Given the description of an element on the screen output the (x, y) to click on. 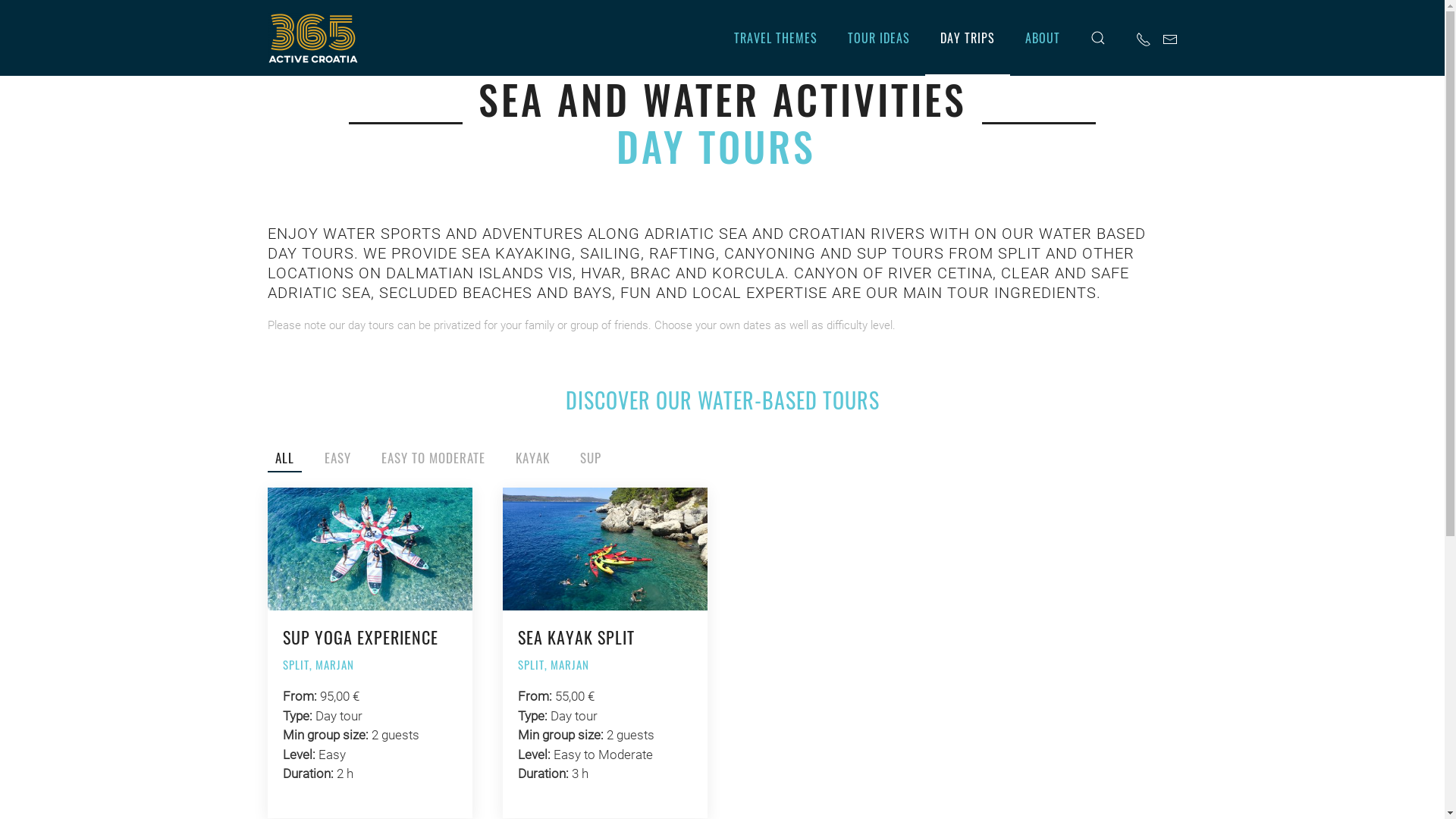
ABOUT Element type: text (1042, 37)
KAYAK Element type: text (532, 458)
SUP Element type: text (589, 458)
TRAVEL THEMES Element type: text (775, 37)
DAY TRIPS Element type: text (967, 37)
EASY Element type: text (337, 458)
ALL Element type: text (283, 458)
EASY TO MODERATE Element type: text (432, 458)
TOUR IDEAS Element type: text (878, 37)
